Given the description of an element on the screen output the (x, y) to click on. 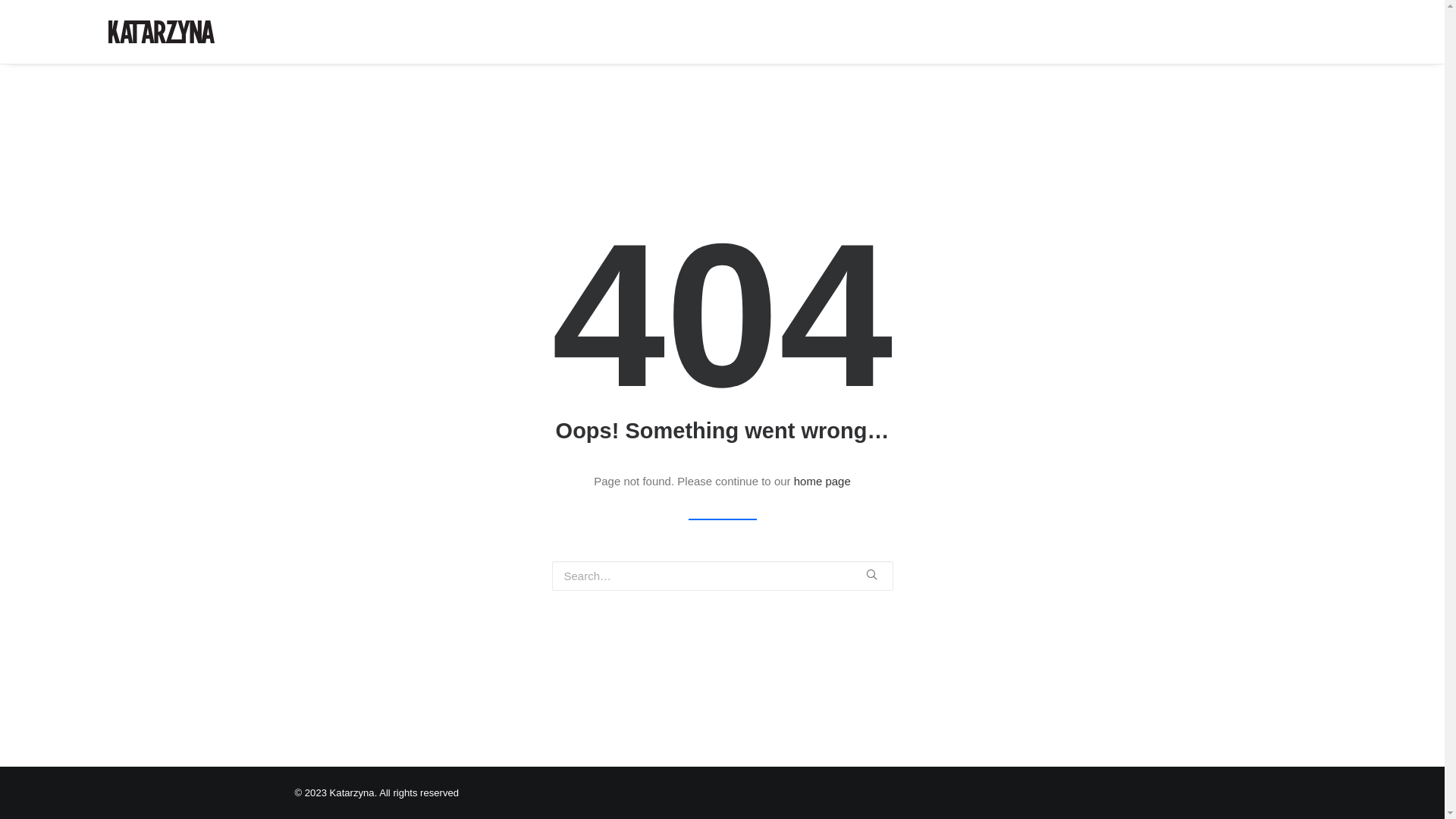
Search for: Element type: hover (722, 575)
home page Element type: text (821, 480)
